Given the description of an element on the screen output the (x, y) to click on. 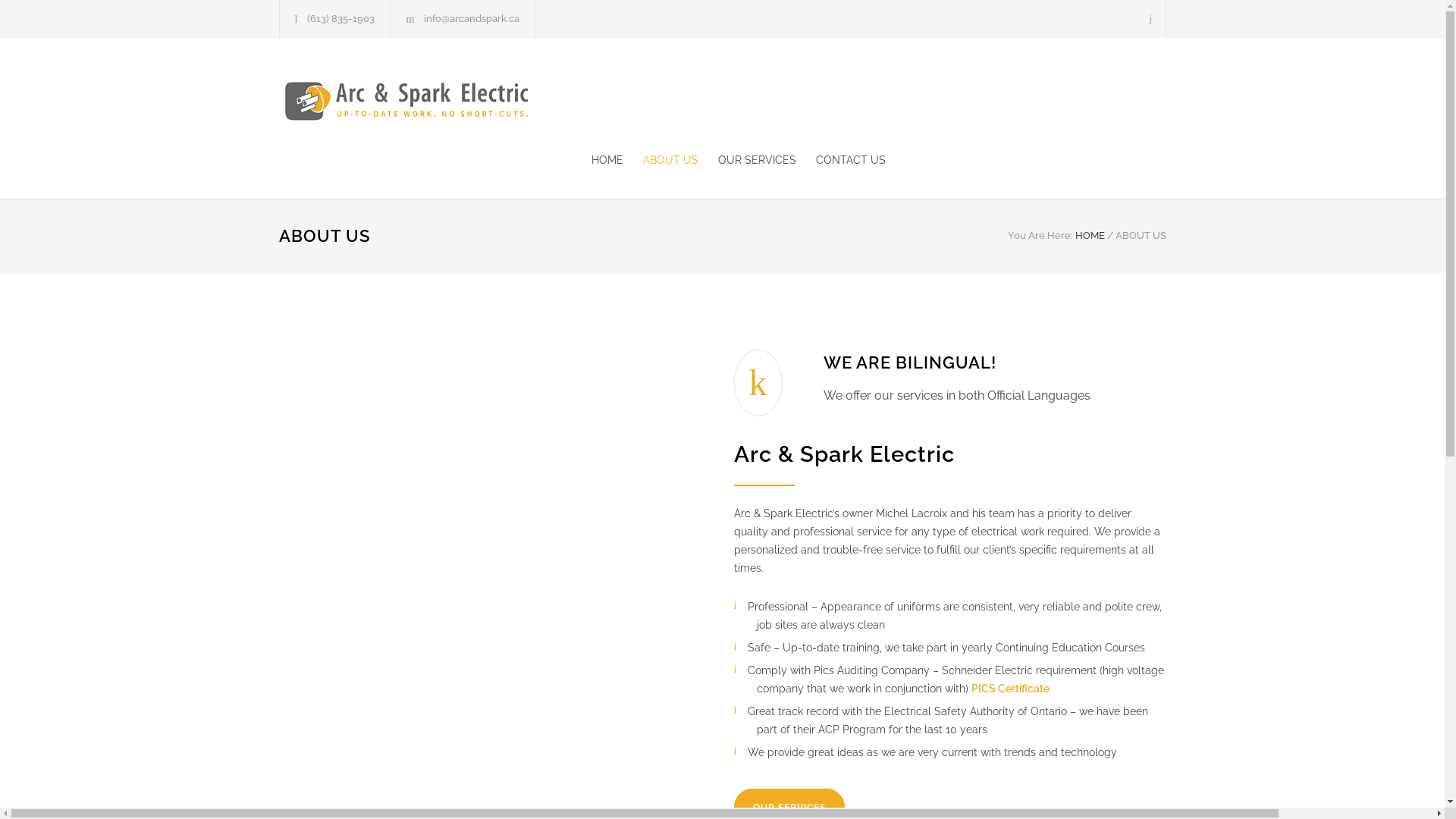
Search Element type: hover (1151, 18)
OUR SERVICES Element type: text (746, 159)
Arc & Spark Electric Element type: hover (419, 99)
info@arcandspark.ca Element type: text (471, 18)
PICS Certificate Element type: text (1009, 688)
HOME Element type: text (607, 159)
CONTACT US Element type: text (840, 159)
HOME Element type: text (1089, 235)
ABOUT US Element type: text (660, 159)
